Given the description of an element on the screen output the (x, y) to click on. 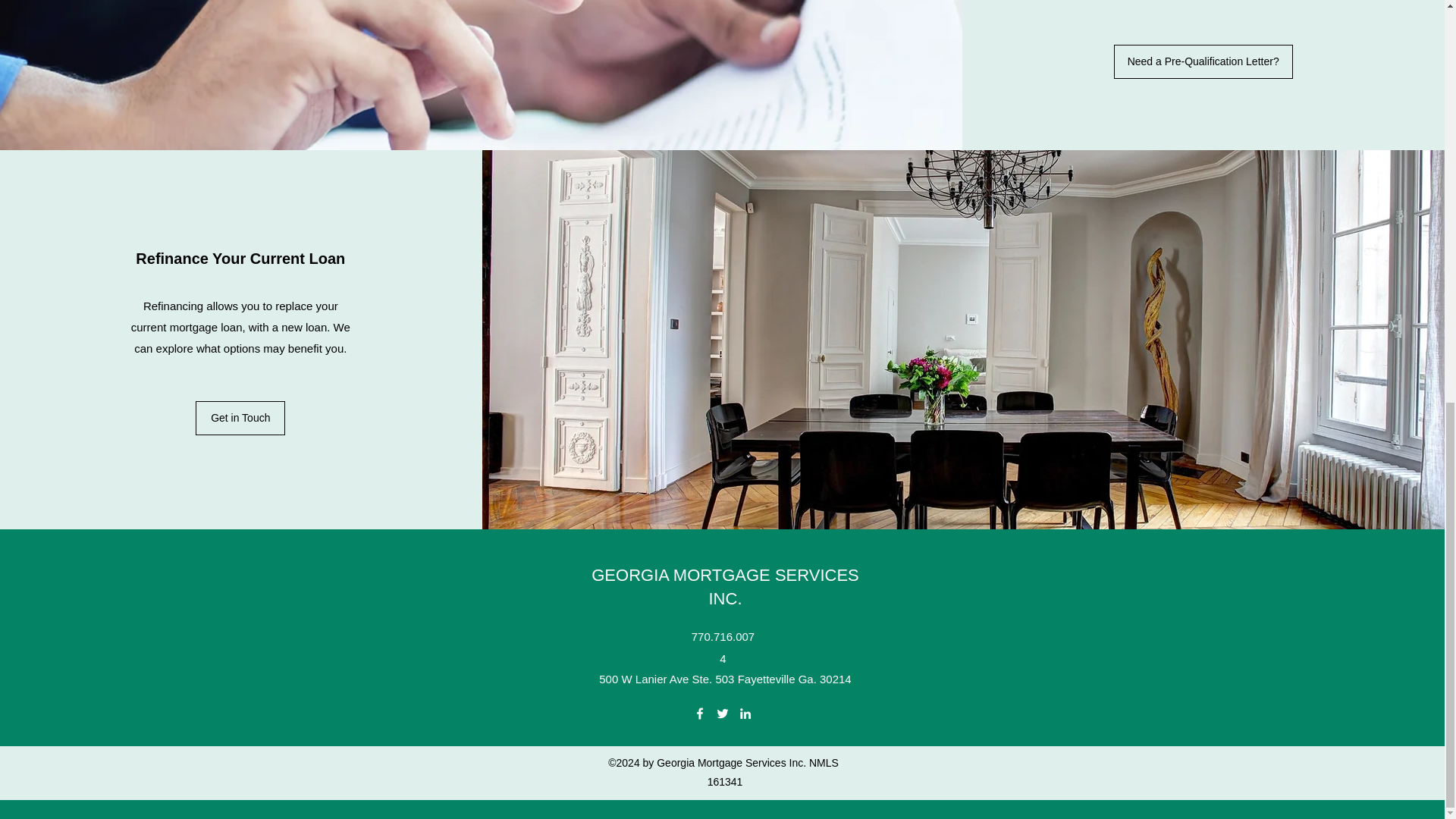
Get in Touch (240, 417)
Need a Pre-Qualification Letter? (1202, 61)
GEORGIA MORTGAGE SERVICES INC. (725, 586)
